Given the description of an element on the screen output the (x, y) to click on. 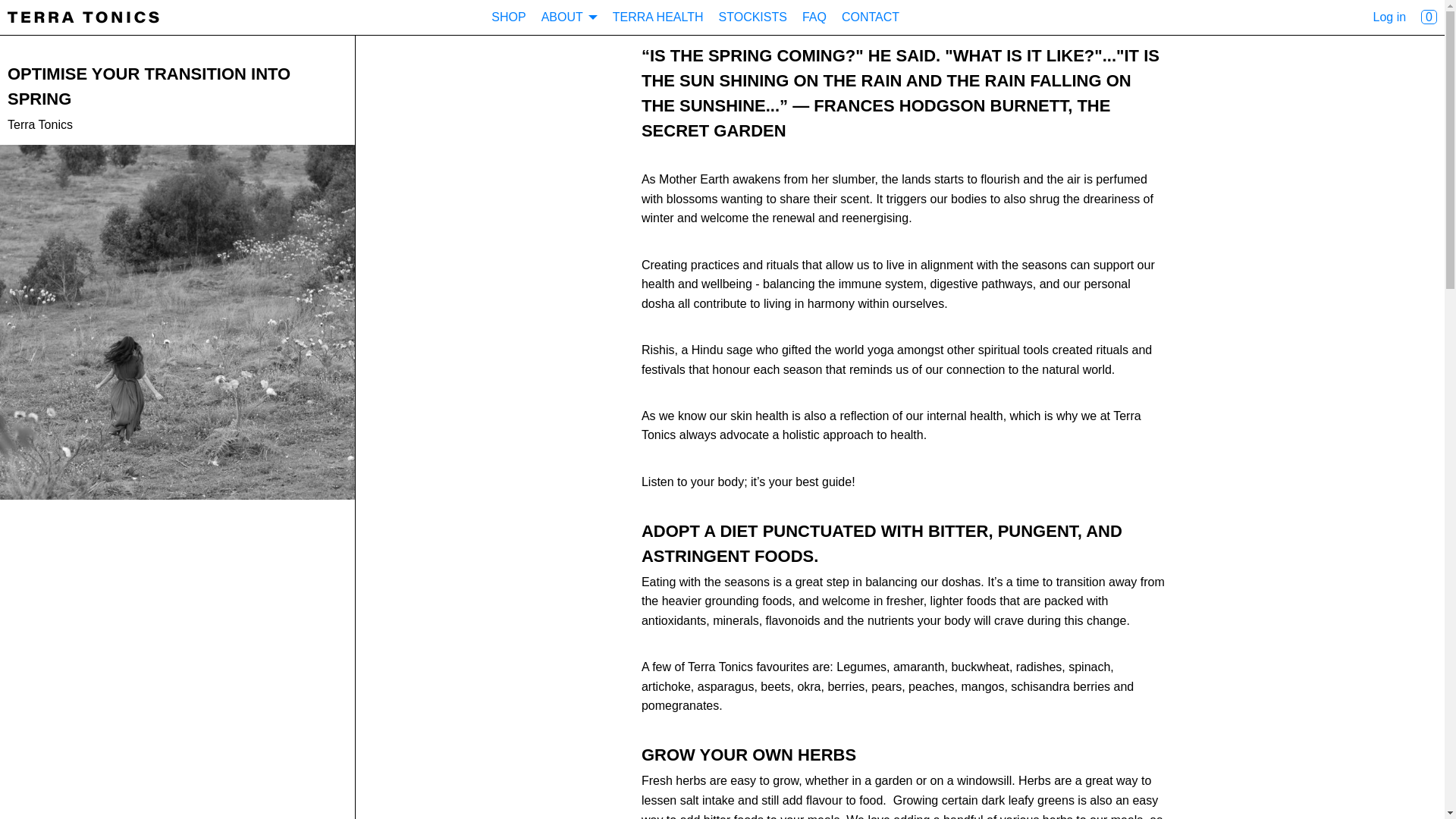
TERRA HEALTH (658, 17)
SHOP (507, 17)
CONTACT (870, 17)
FAQ (814, 17)
Log in (1389, 17)
STOCKISTS (752, 17)
